Given the description of an element on the screen output the (x, y) to click on. 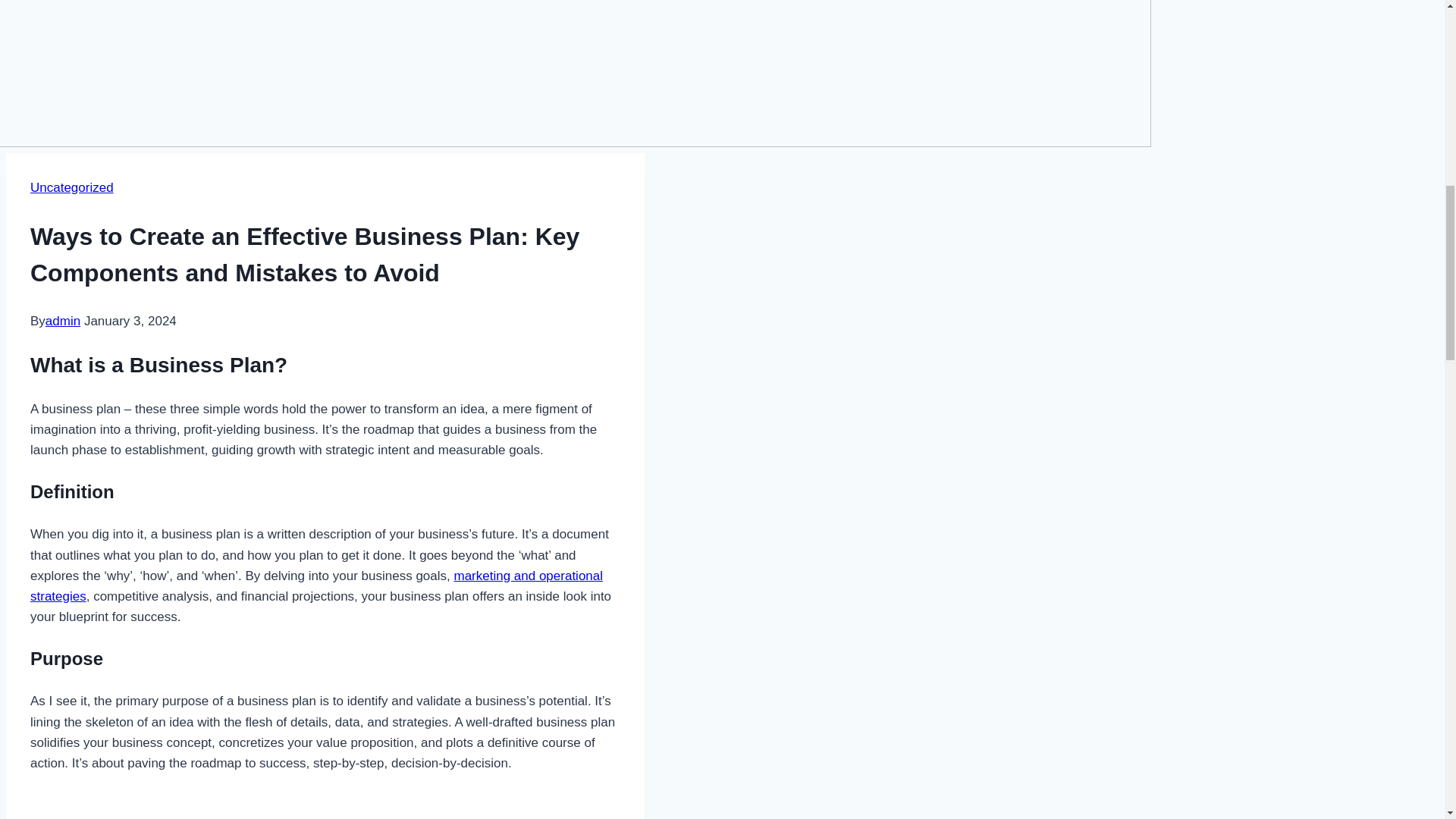
Uncategorized (71, 187)
marketing and operational strategies (316, 585)
admin (62, 320)
